Given the description of an element on the screen output the (x, y) to click on. 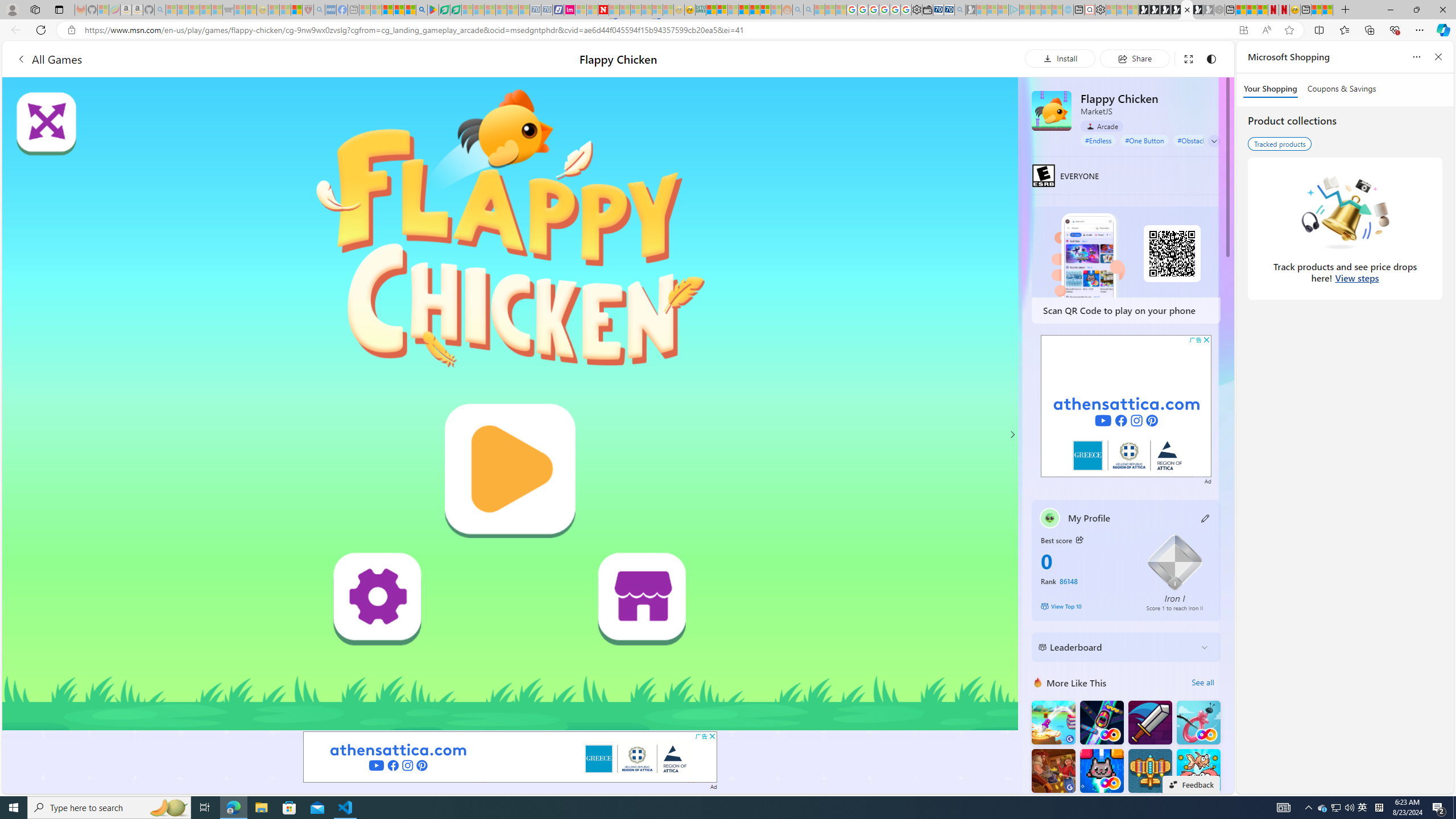
Pets - MSN (398, 9)
Kinda Frugal - MSN (754, 9)
Wildlife - MSN (1316, 9)
Microsoft Word - consumer-privacy address update 2.2021 (455, 9)
Change to dark mode (1211, 58)
